Given the description of an element on the screen output the (x, y) to click on. 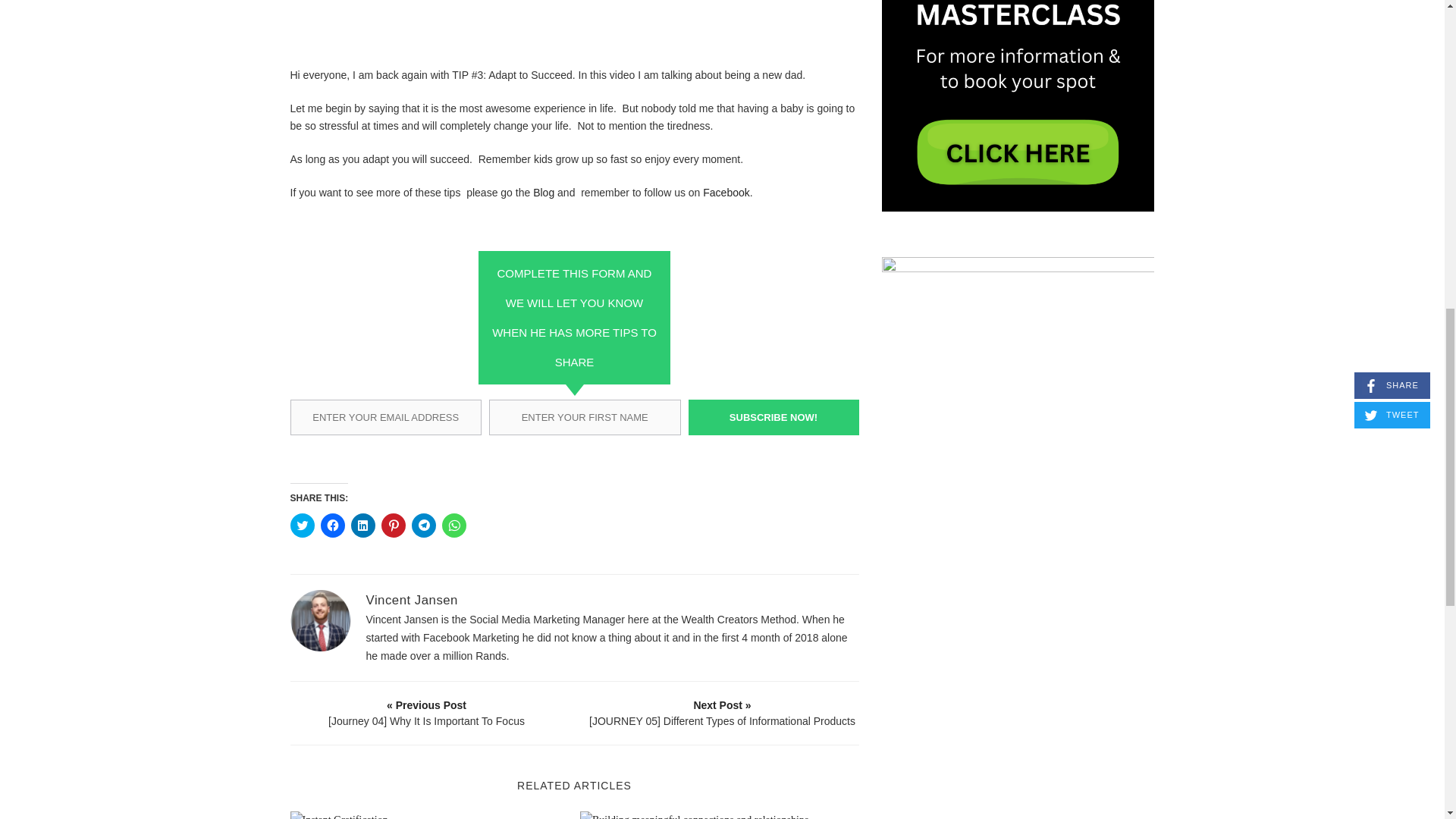
SUBSCRIBE NOW! (773, 416)
Blog (543, 192)
Click to share on Pinterest (392, 525)
Vincent Jansen (411, 599)
Click to share on Facebook (331, 525)
Click to share on Telegram (422, 525)
Click to share on WhatsApp (453, 525)
Click to share on LinkedIn (362, 525)
Facebook (726, 192)
Click to share on Twitter (301, 525)
